Given the description of an element on the screen output the (x, y) to click on. 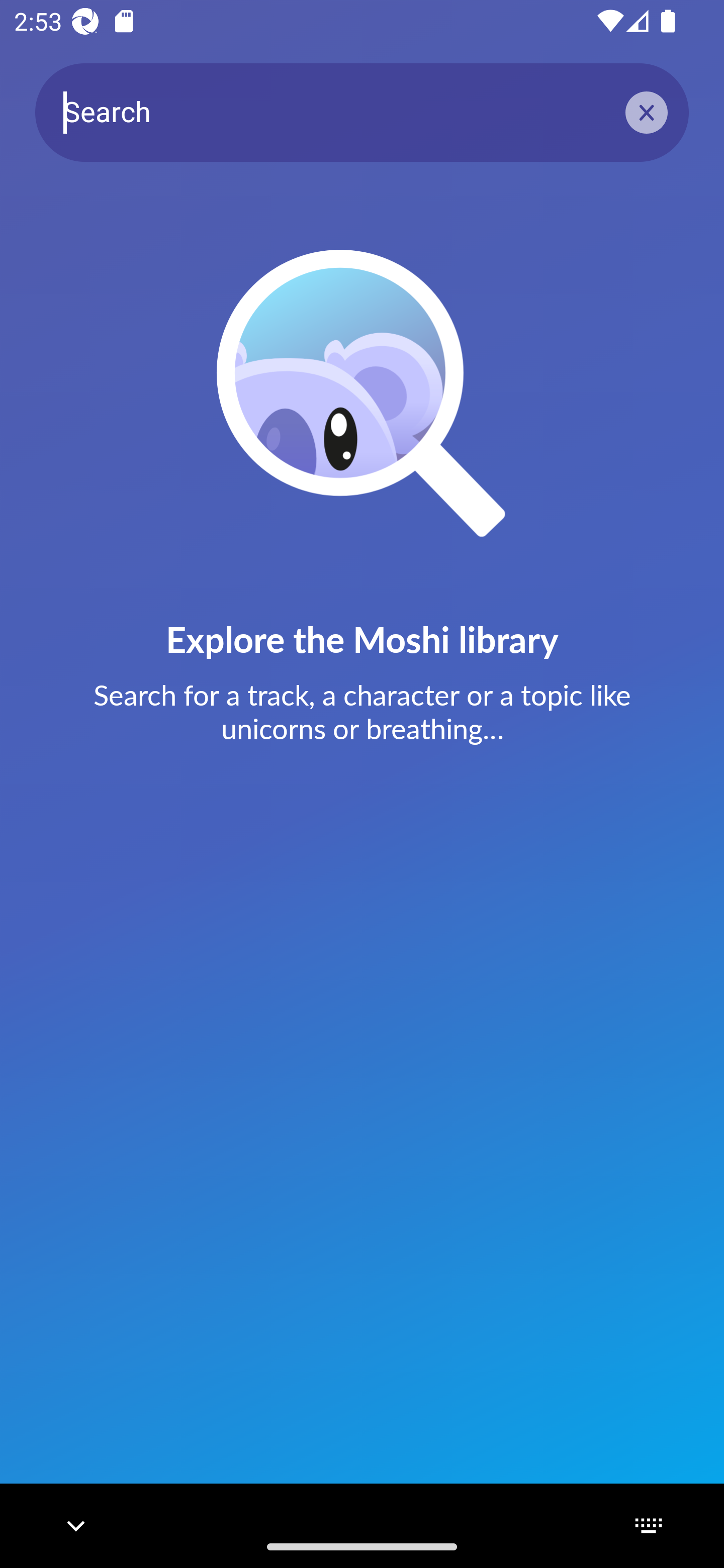
Search (361, 111)
